Given the description of an element on the screen output the (x, y) to click on. 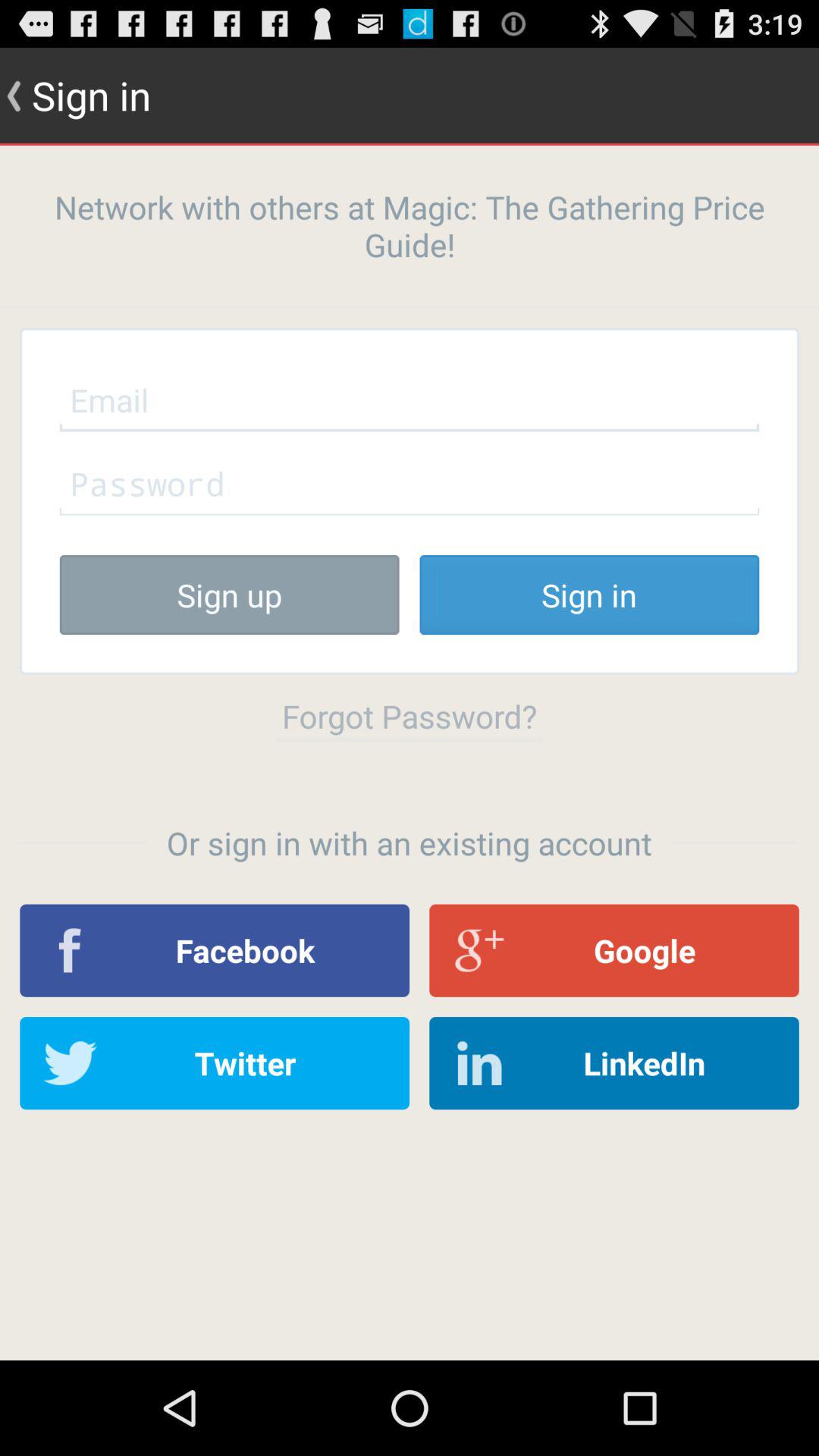
tap app above the twitter item (214, 950)
